Given the description of an element on the screen output the (x, y) to click on. 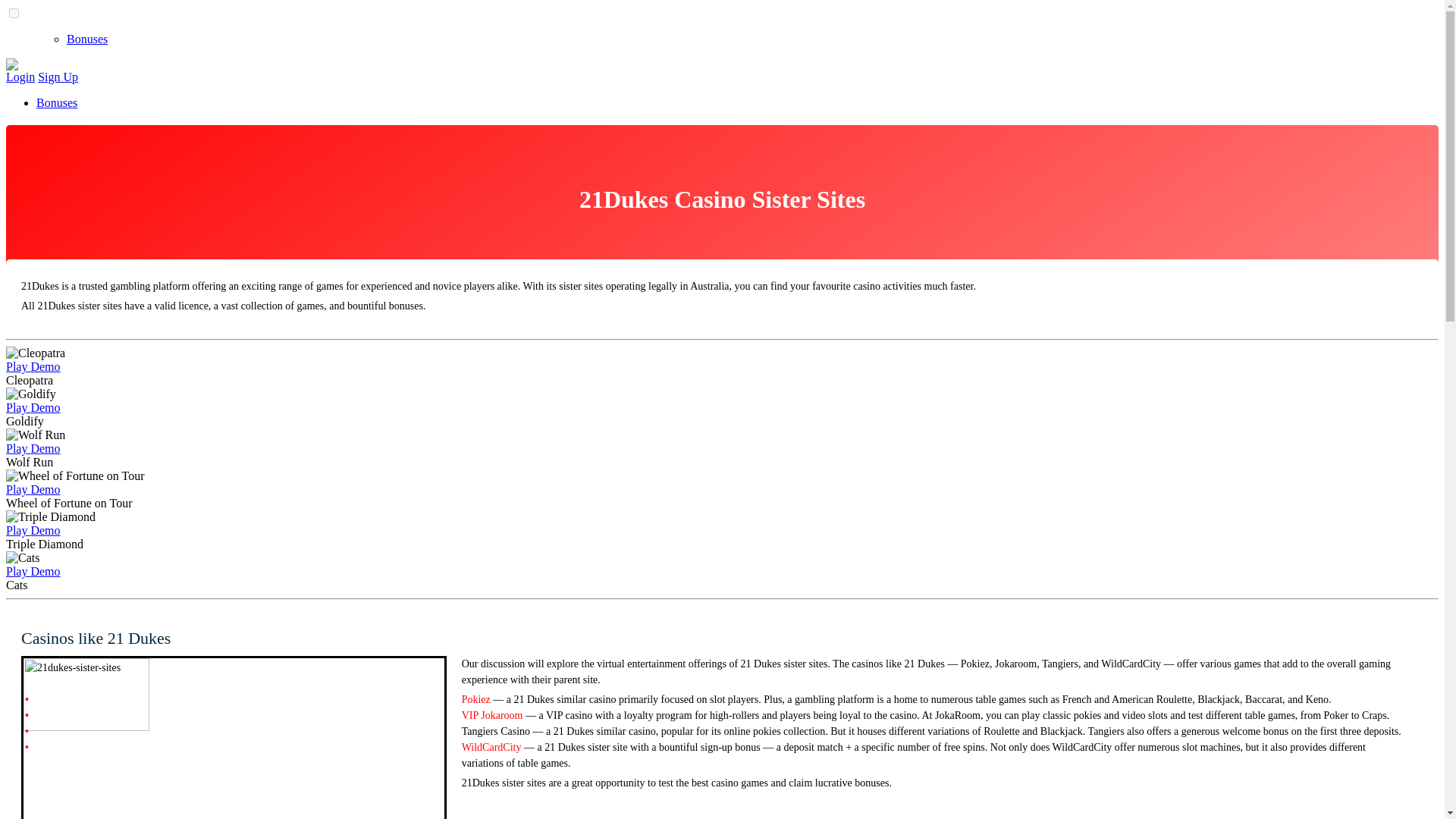
Demo (44, 407)
Play (17, 489)
Demo (44, 571)
Pokiez (475, 699)
Sign Up (57, 76)
on (13, 13)
VIP Jokaroom (491, 715)
Play (17, 366)
Play (17, 407)
Demo (44, 489)
